Given the description of an element on the screen output the (x, y) to click on. 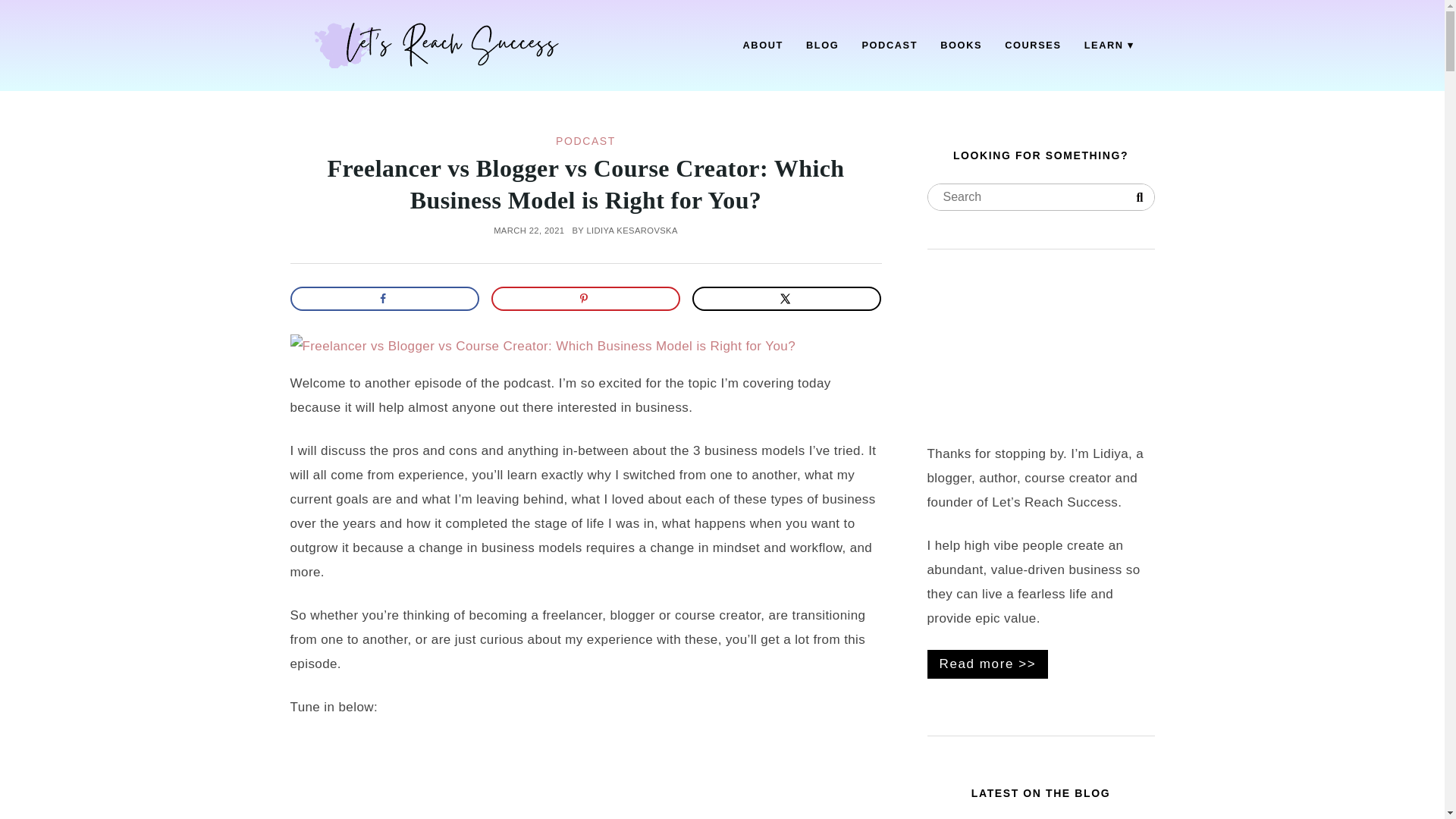
ABOUT (763, 45)
COURSES (1032, 45)
PODCAST (585, 141)
Share on Facebook (384, 298)
BLOG (822, 45)
LEARN (1109, 45)
BOOKS (960, 45)
Save to Pinterest (586, 298)
